Given the description of an element on the screen output the (x, y) to click on. 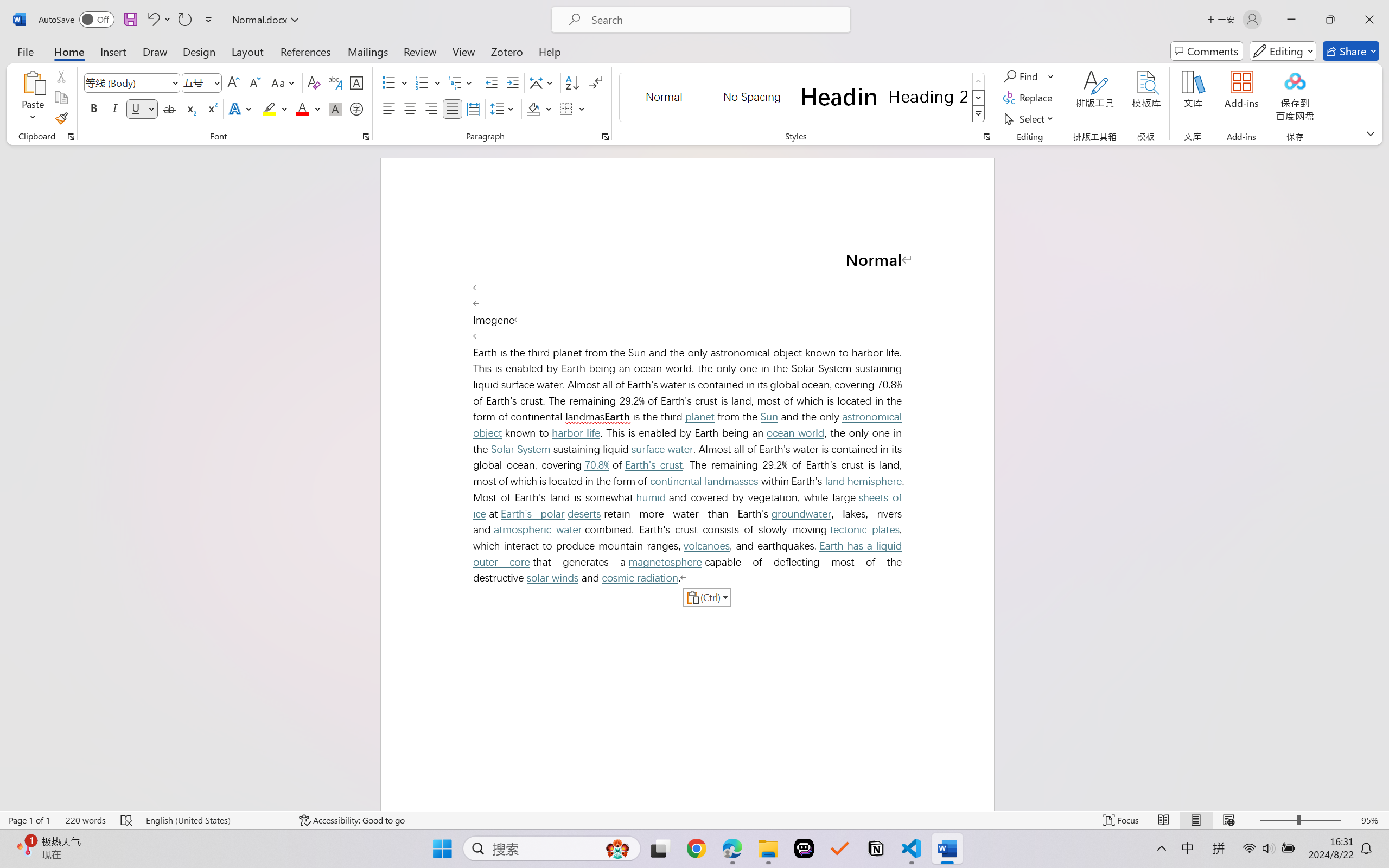
planet (698, 416)
Subscript (190, 108)
Enclose Characters... (356, 108)
Increase Indent (512, 82)
Phonetic Guide... (334, 82)
Repeat Paste Option (184, 19)
Strikethrough (169, 108)
cosmic radiation (639, 578)
Open (215, 82)
Microsoft search (715, 19)
Align Right (431, 108)
Font... (365, 136)
Select (1030, 118)
